Given the description of an element on the screen output the (x, y) to click on. 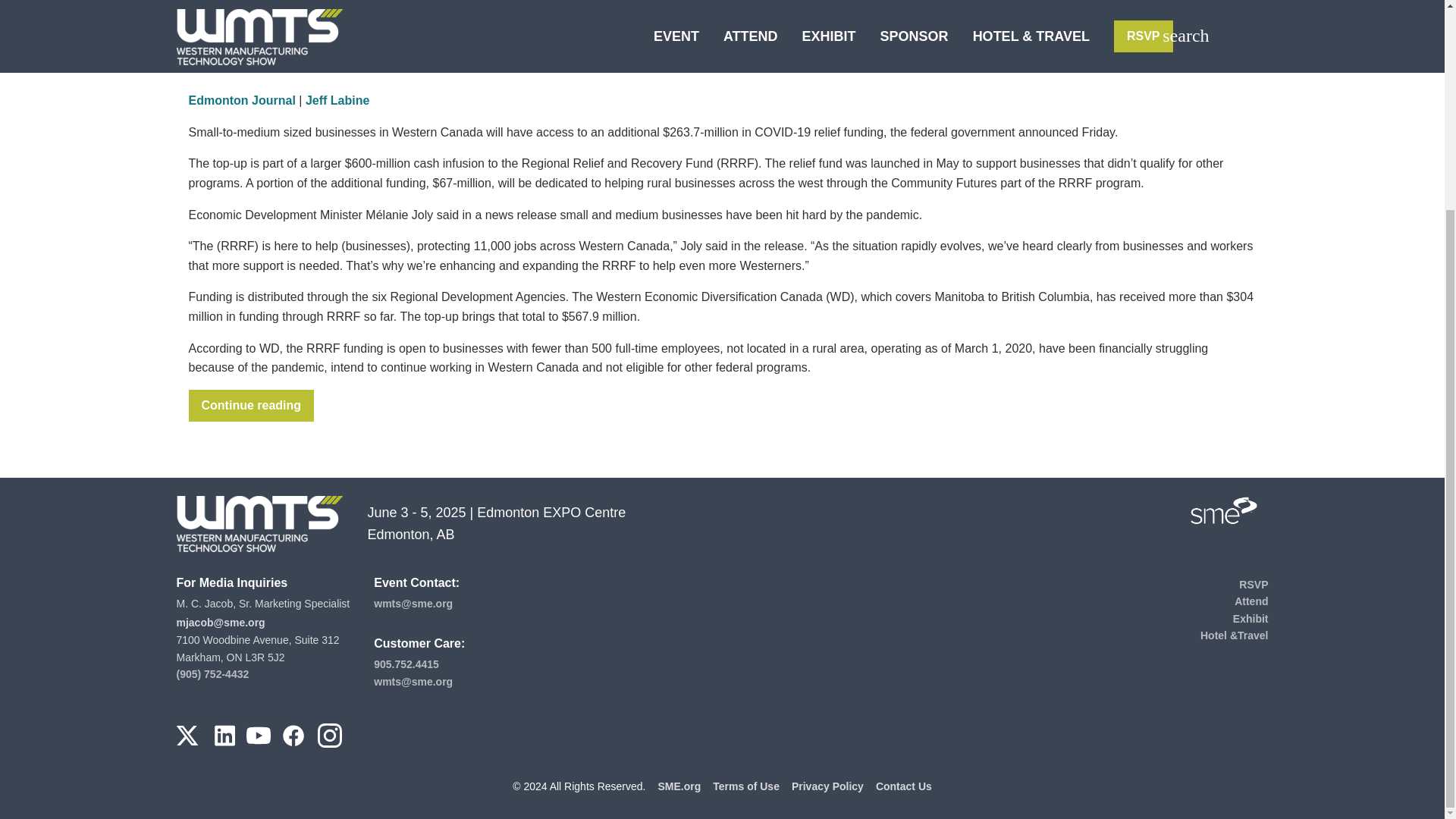
905.752.4415 (406, 664)
Edmonton Journal (241, 100)
RSVP (1253, 584)
Attend (1251, 601)
Continue reading (250, 405)
Jeff Labine (337, 100)
